Given the description of an element on the screen output the (x, y) to click on. 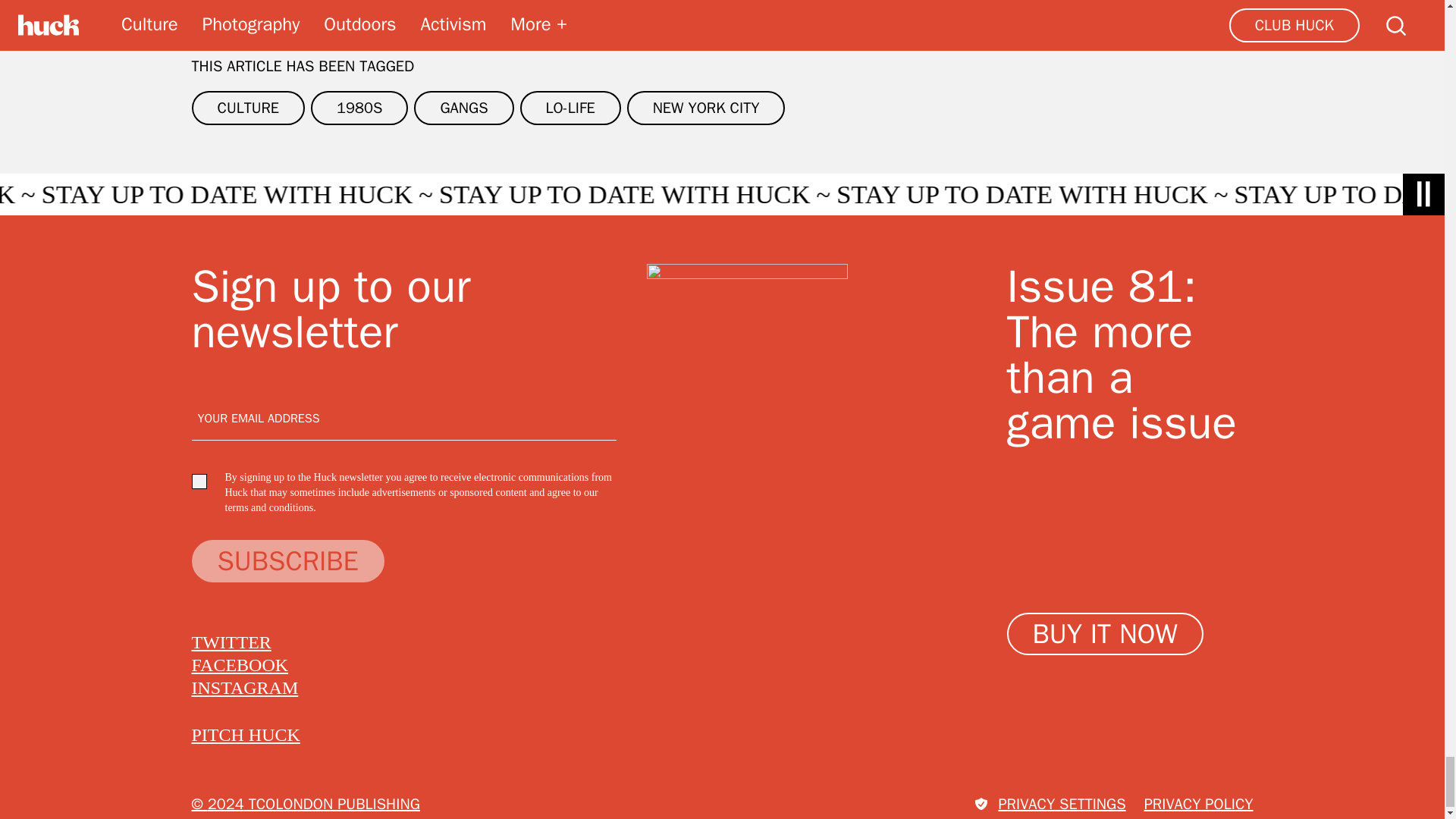
NEW YORK CITY (706, 107)
PITCH HUCK (244, 734)
1980S (359, 107)
LO-LIFE (570, 107)
INSTAGRAM (244, 687)
FACEBOOK (239, 664)
SUBSCRIBE (287, 560)
GANGS (463, 107)
PRIVACY SETTINGS (1049, 804)
TWITTER (230, 641)
